Given the description of an element on the screen output the (x, y) to click on. 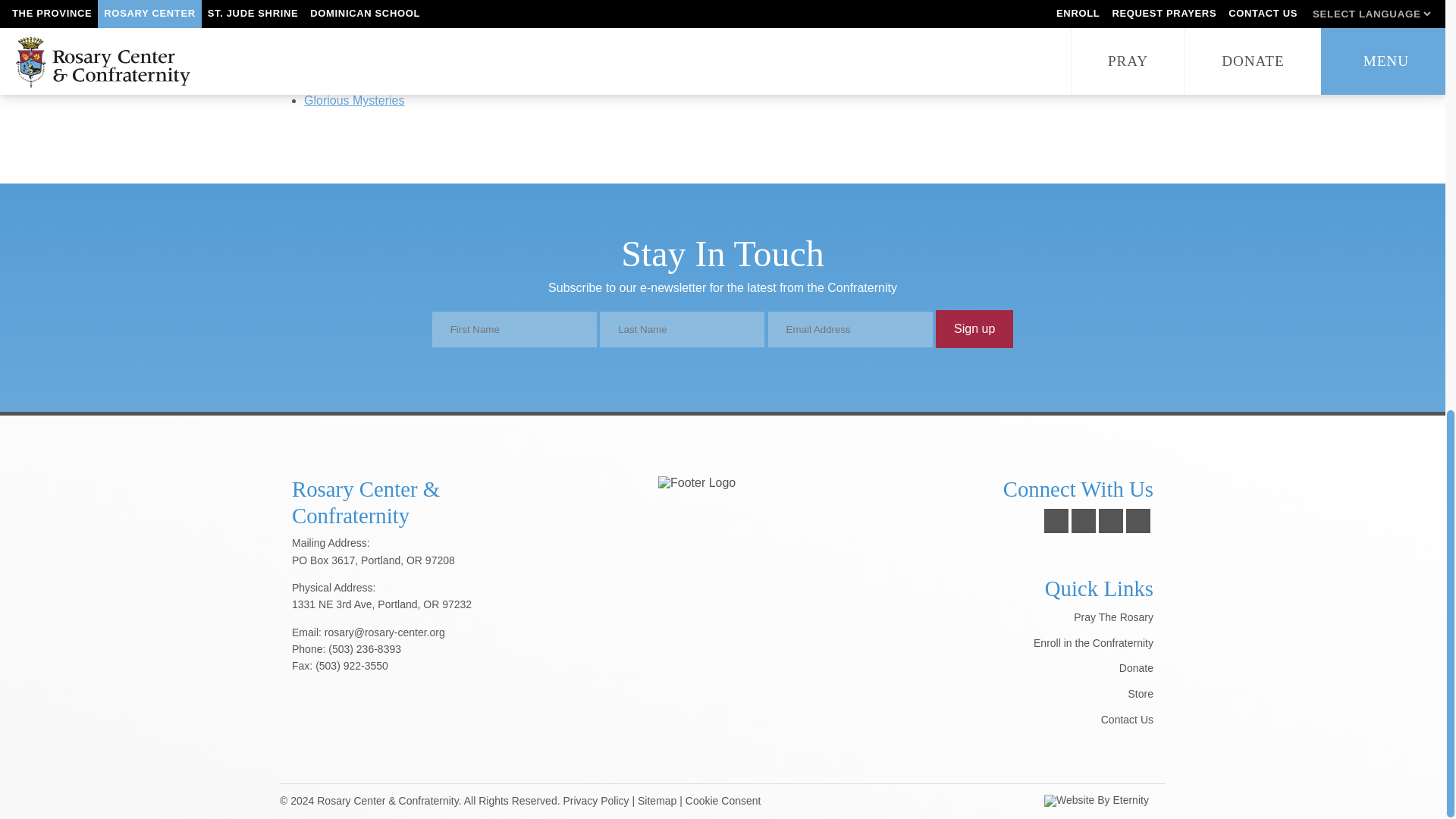
Follow us on Twitter (1083, 520)
Follow us on Instagram (1110, 520)
Find us on Facebook (1055, 520)
Sign up (974, 329)
Watch us on YouTube (1137, 520)
